Given the description of an element on the screen output the (x, y) to click on. 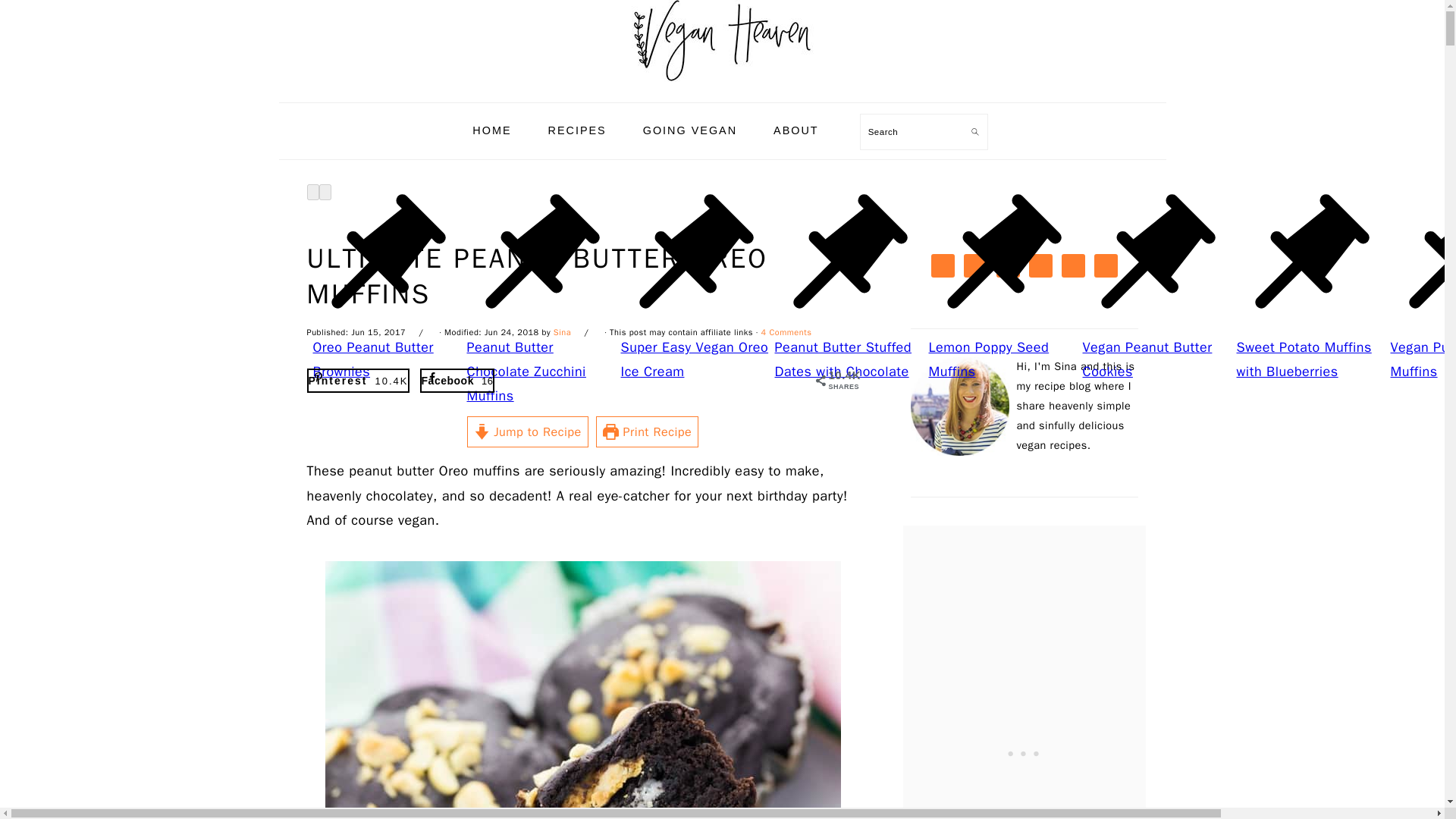
Share on Facebook (457, 380)
Vegan Heaven (721, 85)
HOME (492, 130)
Vegan Heaven (721, 40)
Jump to Recipe (527, 431)
RECIPES (577, 130)
Sina (561, 331)
GOING VEGAN (689, 130)
Facebook16 (457, 380)
Print Recipe (646, 431)
Pinterest10.4K (357, 380)
